Given the description of an element on the screen output the (x, y) to click on. 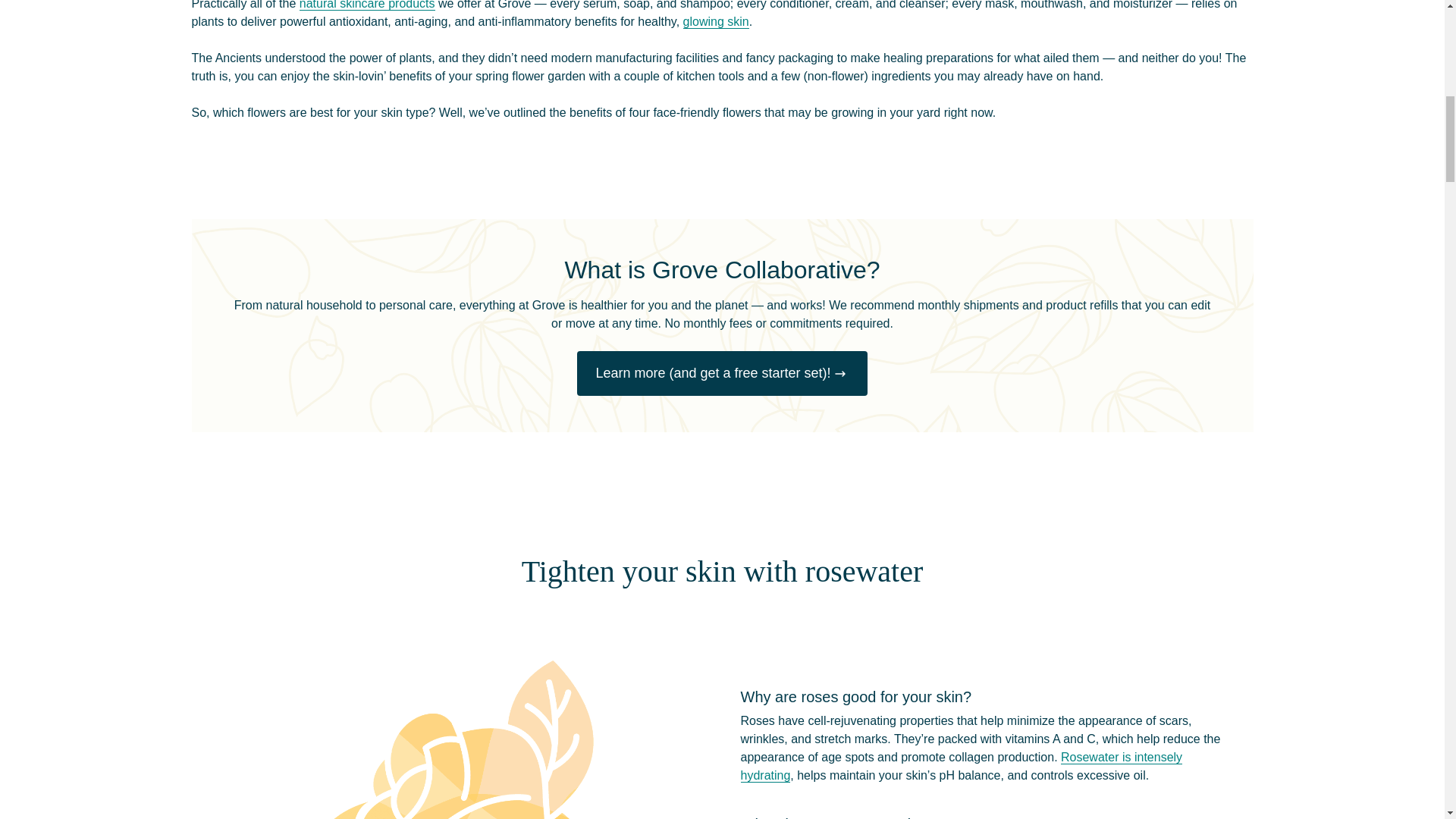
arrow (839, 373)
Rosewater is intensely hydrating (960, 766)
natural skincare products (367, 5)
glowing skin (715, 21)
